Given the description of an element on the screen output the (x, y) to click on. 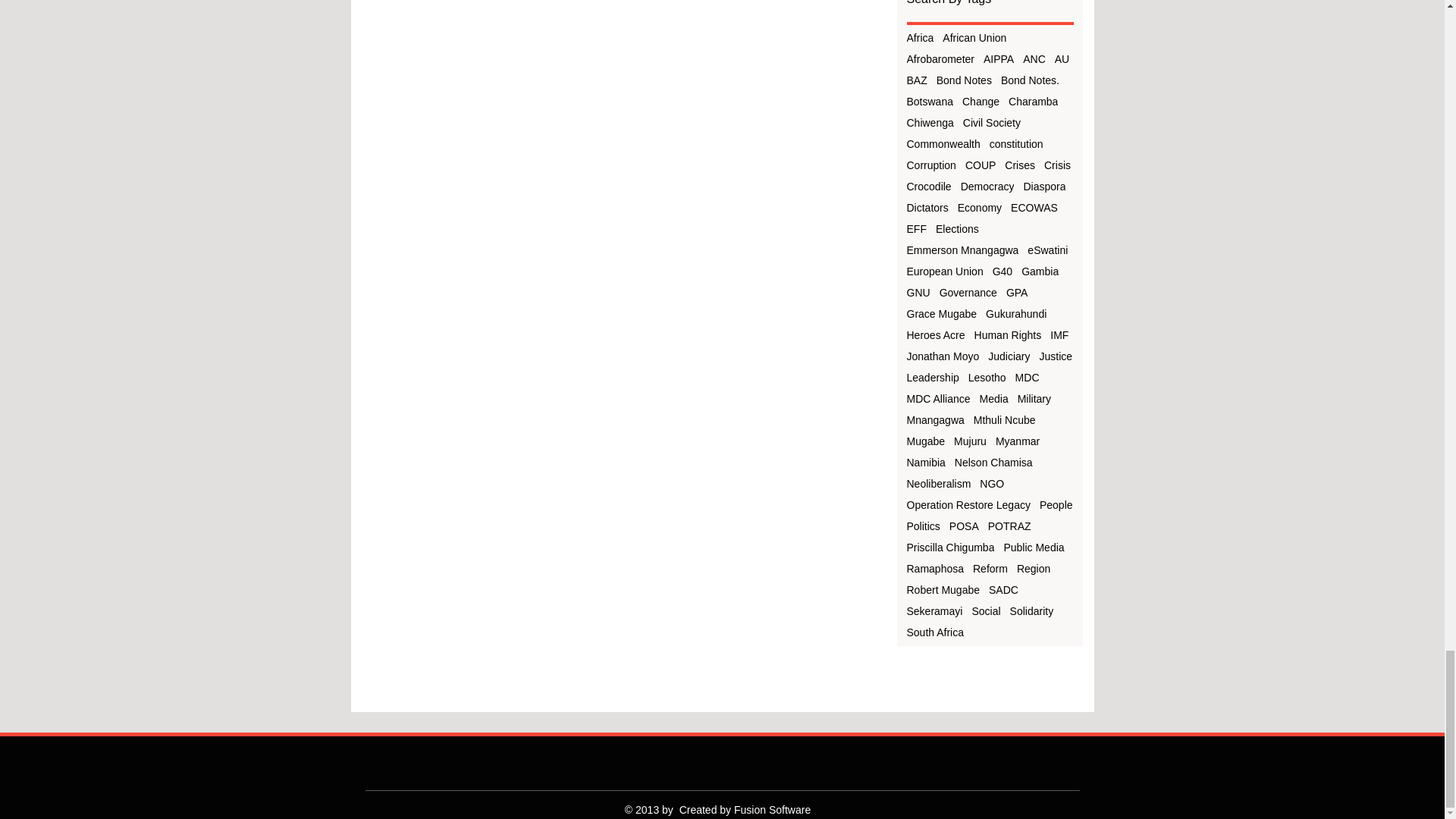
Crocodile (929, 186)
Diaspora (1044, 186)
COUP (980, 164)
Democracy (987, 186)
EFF (916, 228)
ANC (1034, 59)
Change (980, 101)
constitution (1016, 143)
Crises (1019, 164)
Corruption (931, 164)
Civil Society (991, 122)
Bond Notes. (1030, 80)
BAZ (917, 80)
Botswana (930, 101)
AU (1061, 59)
